Given the description of an element on the screen output the (x, y) to click on. 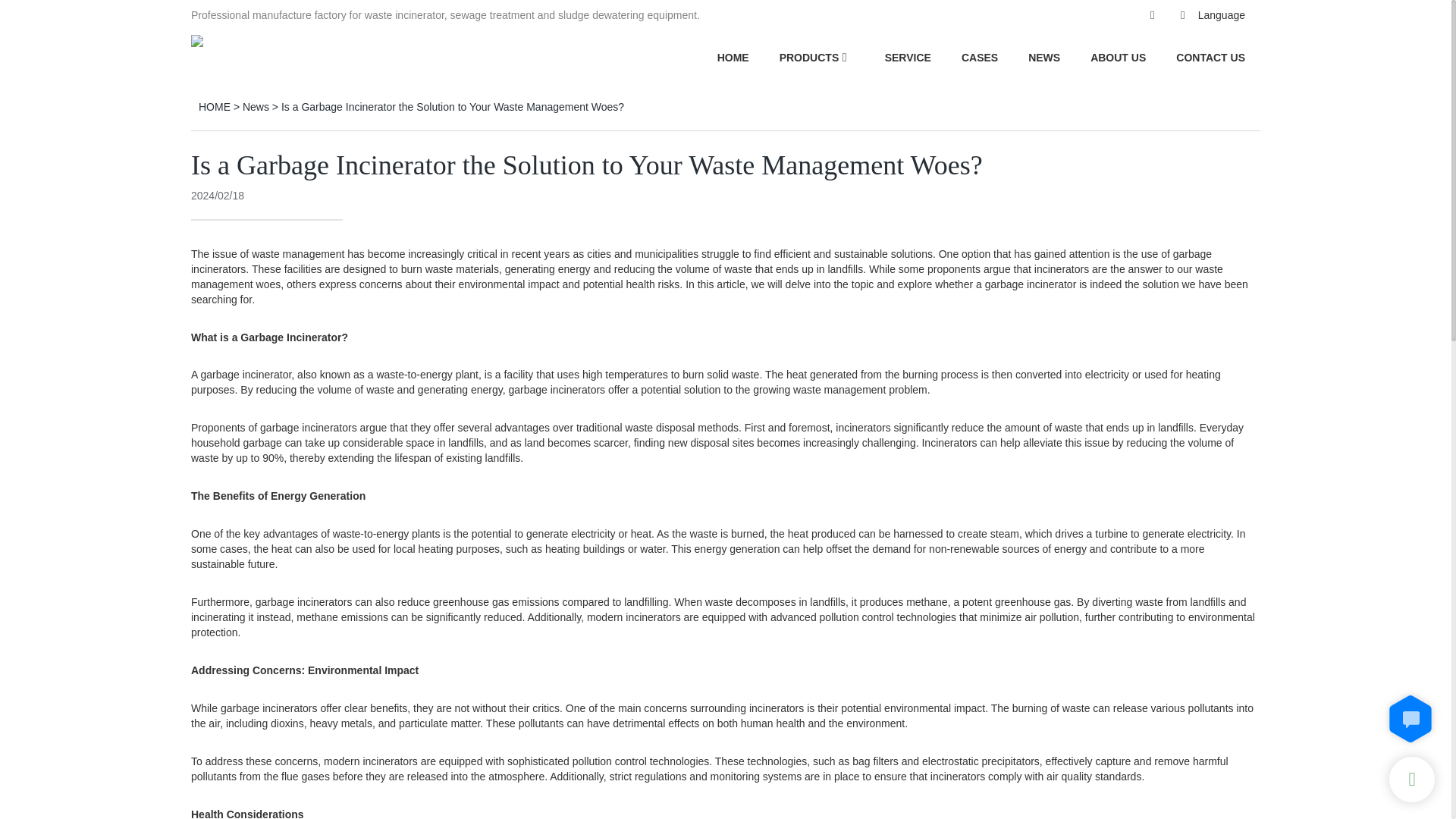
News (256, 106)
CONTACT US (1210, 57)
SERVICE (908, 57)
CASES (978, 57)
linkedin (1114, 15)
HOME (733, 57)
ABOUT US (1117, 57)
PRODUCTS (809, 57)
youtube (1083, 15)
